Given the description of an element on the screen output the (x, y) to click on. 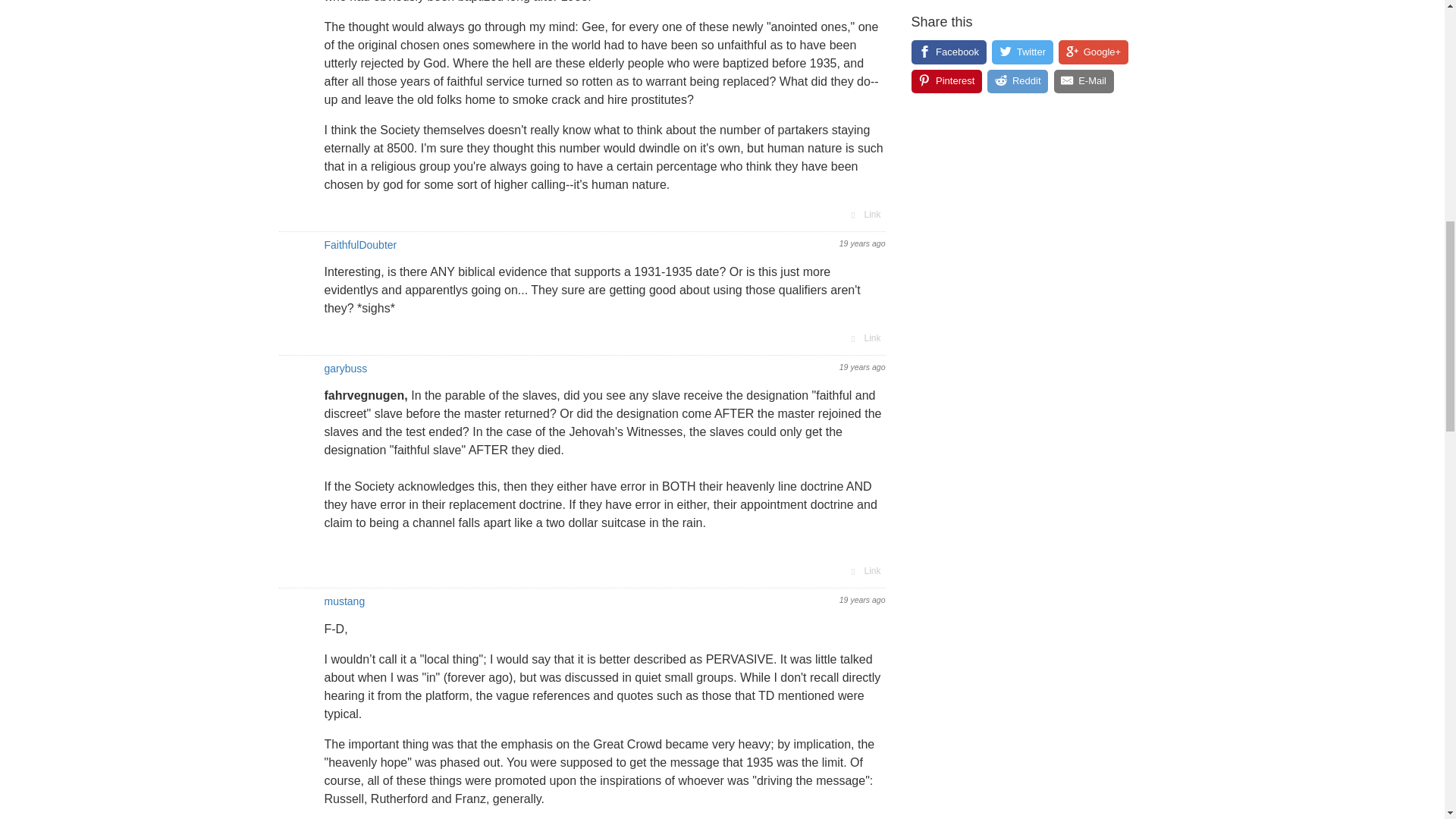
garybuss (346, 368)
Link (864, 570)
Tue, Dec 27 2005, 11:18:00 (862, 366)
mustang (344, 601)
Link (864, 214)
FaithfulDoubter (360, 244)
Tue, Dec 27 2005, 11:21:00 (862, 599)
Link (864, 338)
Tue, Dec 27 2005, 10:36:00 (862, 243)
